Given the description of an element on the screen output the (x, y) to click on. 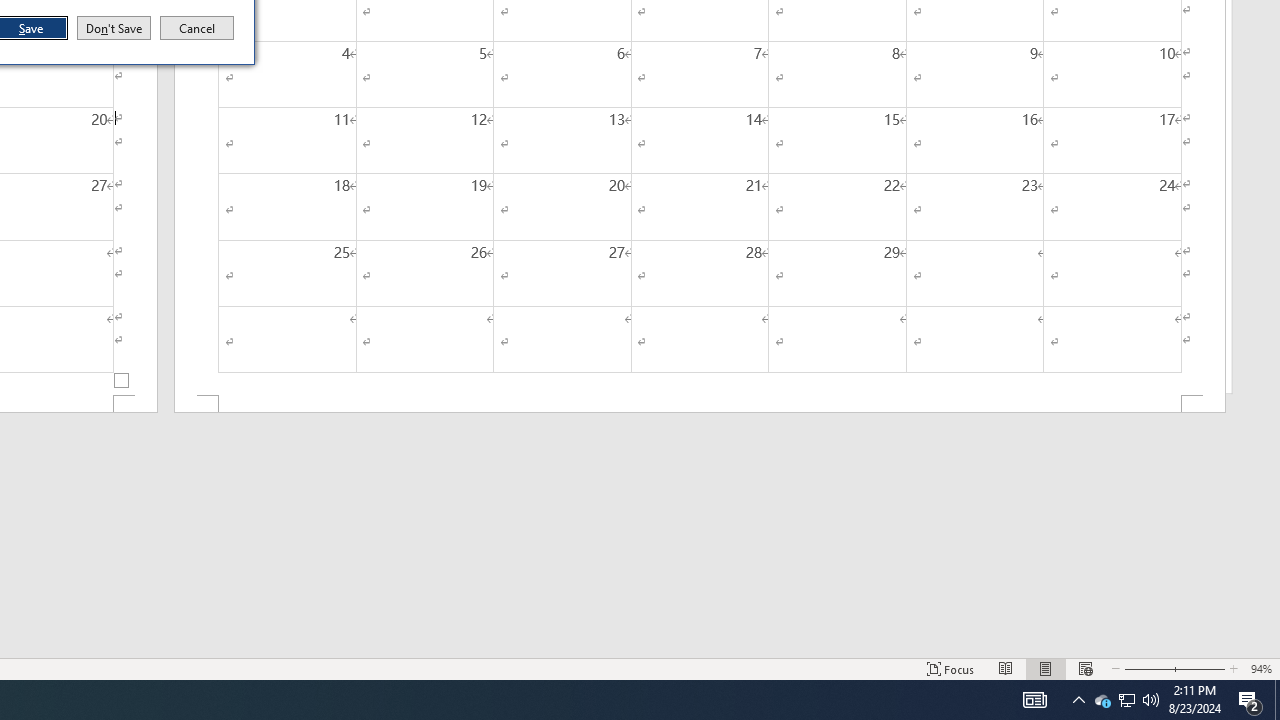
Don't Save (113, 27)
AutomationID: 4105 (1034, 699)
Notification Chevron (1078, 699)
Q2790: 100% (1151, 699)
Show desktop (1277, 699)
Cancel (197, 27)
